Given the description of an element on the screen output the (x, y) to click on. 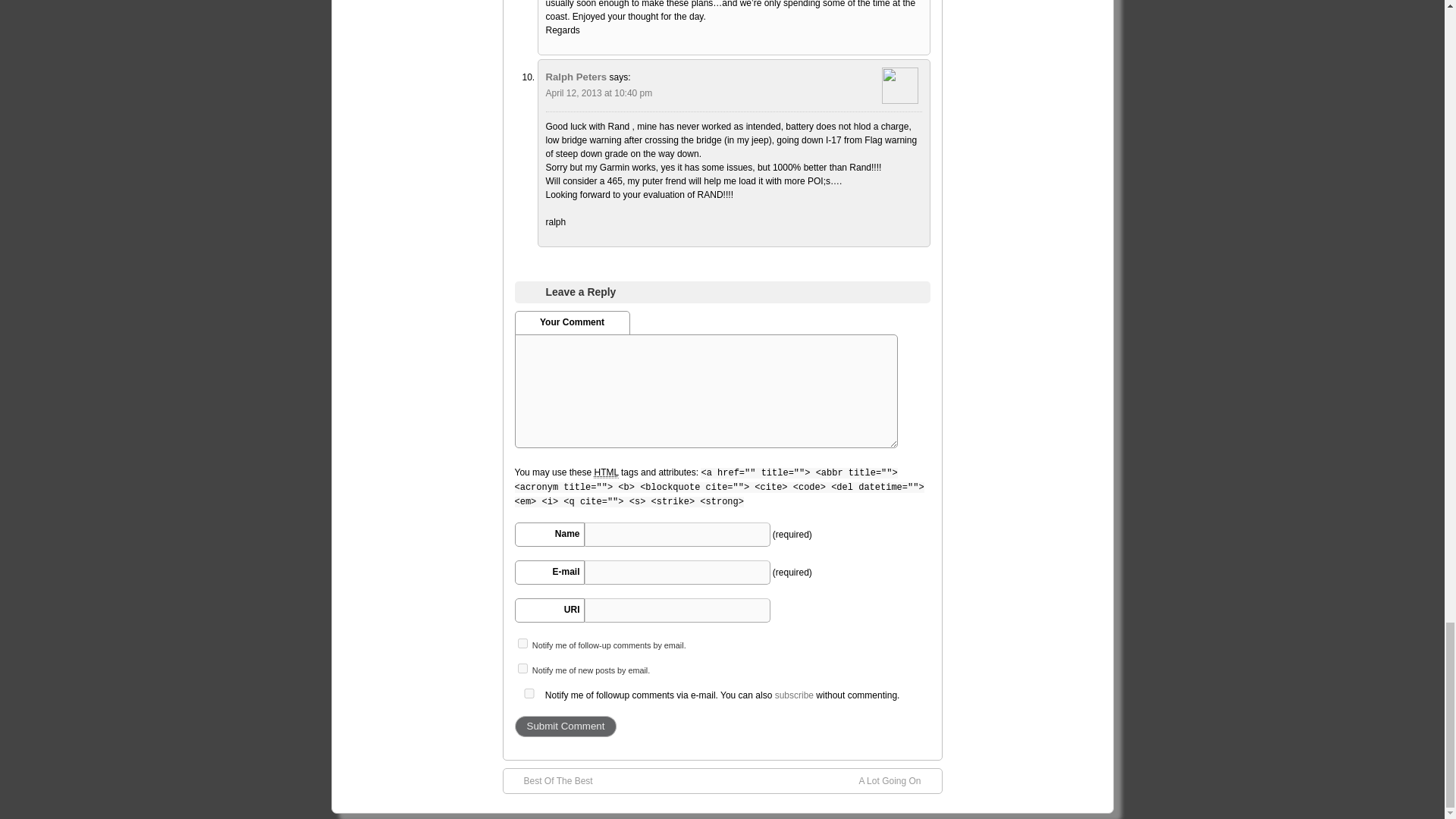
subscribe (521, 668)
HyperText Markup Language (605, 472)
yes (528, 693)
subscribe (521, 643)
Submit Comment (564, 726)
